Given the description of an element on the screen output the (x, y) to click on. 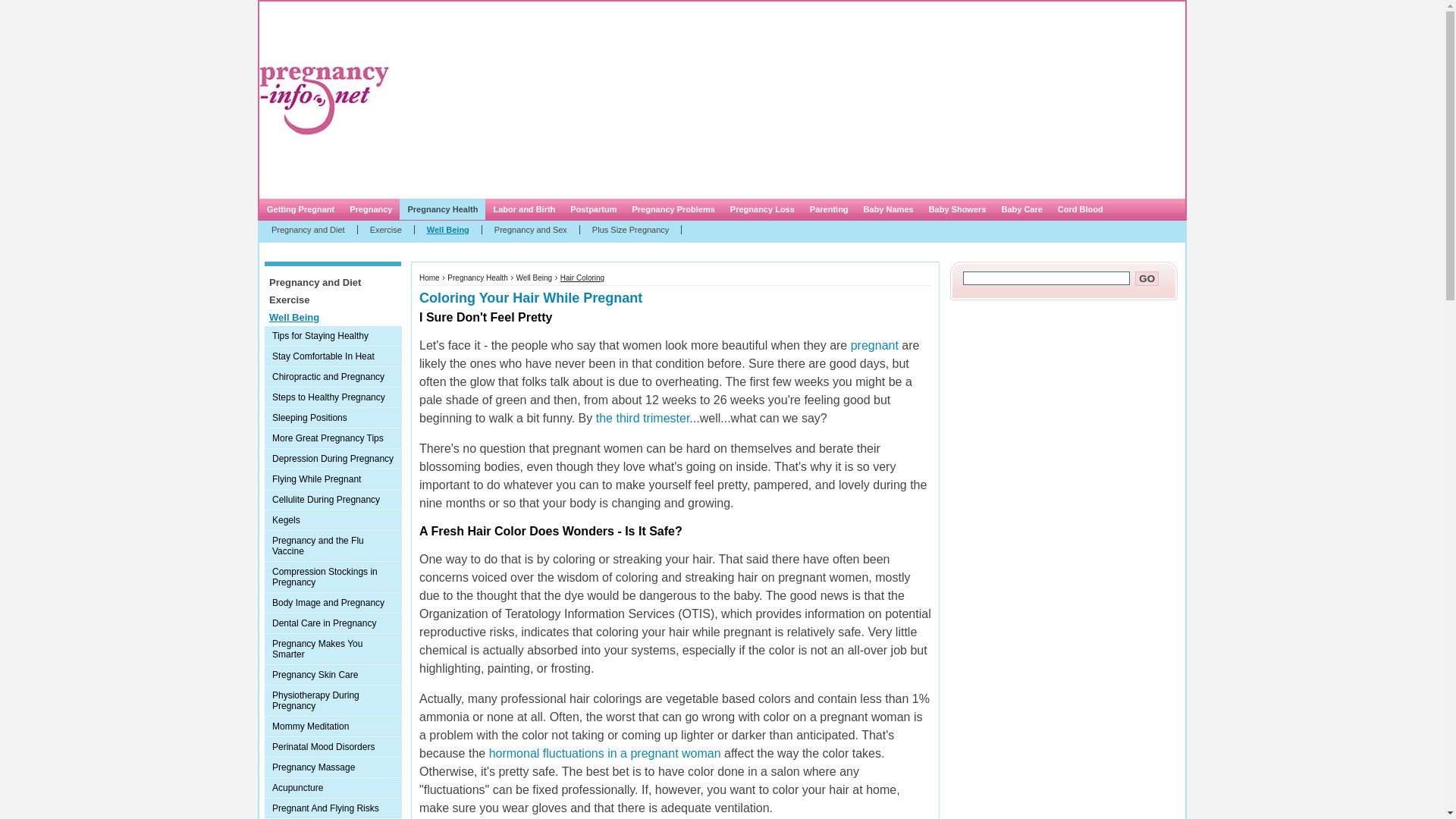
third trimester (640, 418)
Chiropractic and Pregnancy (332, 376)
Sleeping Positions (332, 417)
Exercise (386, 229)
Baby Care (1020, 209)
Steps to Healthy Pregnancy (332, 397)
Pregnancy Health (477, 277)
Pregnancy Health (441, 209)
hormonal fluctuations in a pregnant woman (602, 753)
Pregnancy Info HOME (350, 38)
